Given the description of an element on the screen output the (x, y) to click on. 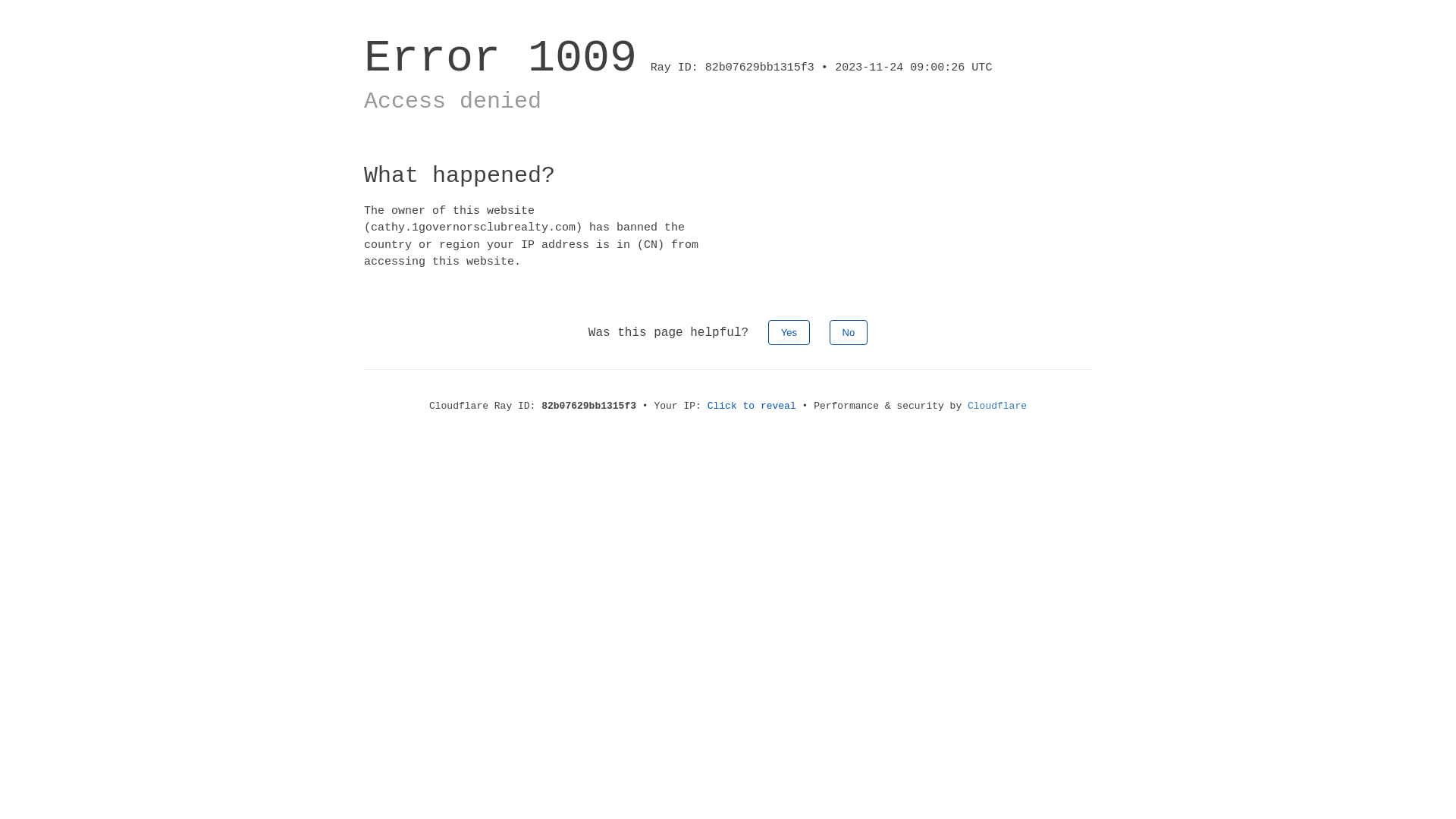
No Element type: text (848, 332)
Click to reveal Element type: text (751, 405)
Yes Element type: text (788, 332)
Cloudflare Element type: text (996, 405)
